Given the description of an element on the screen output the (x, y) to click on. 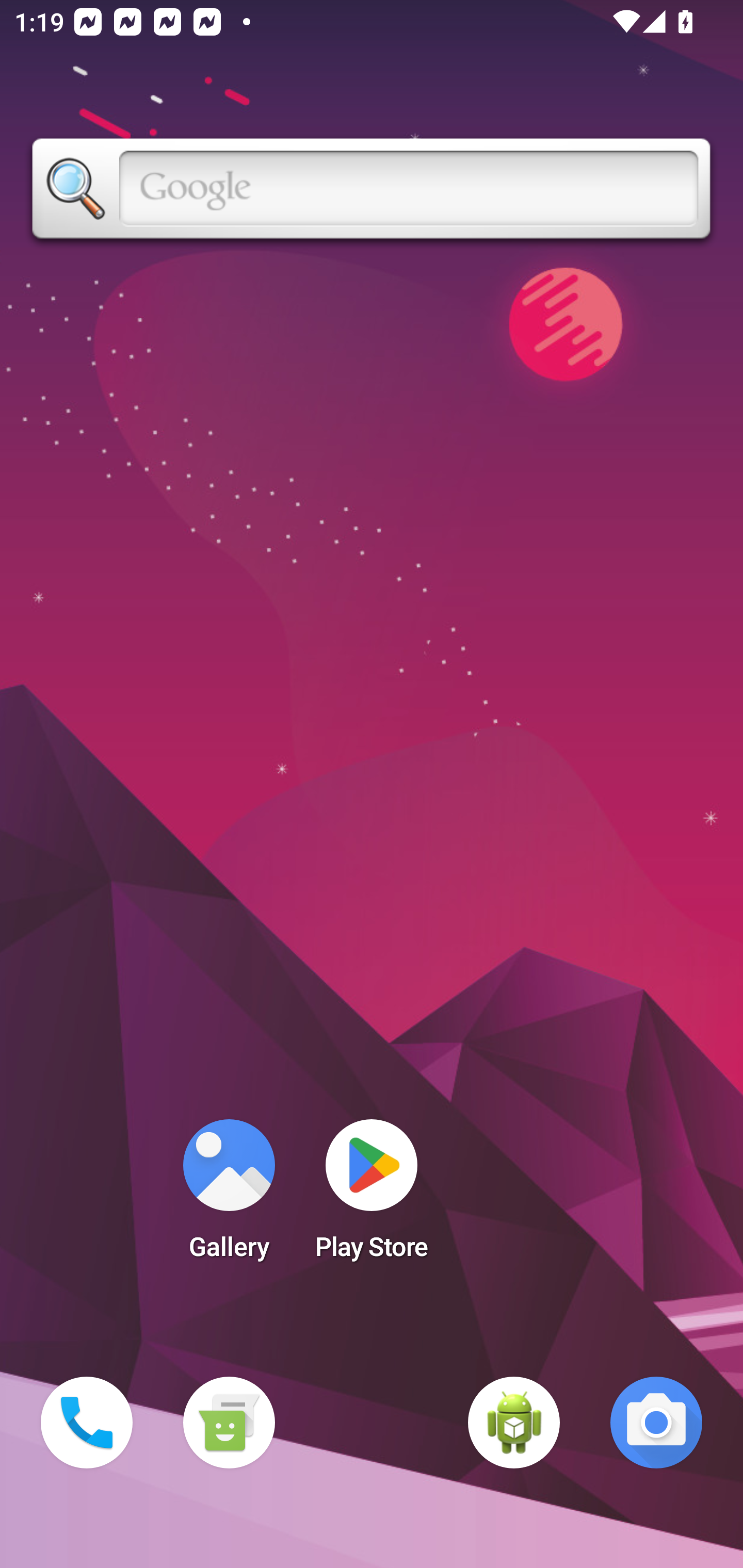
Gallery (228, 1195)
Play Store (371, 1195)
Phone (86, 1422)
Messaging (228, 1422)
WebView Browser Tester (513, 1422)
Camera (656, 1422)
